Given the description of an element on the screen output the (x, y) to click on. 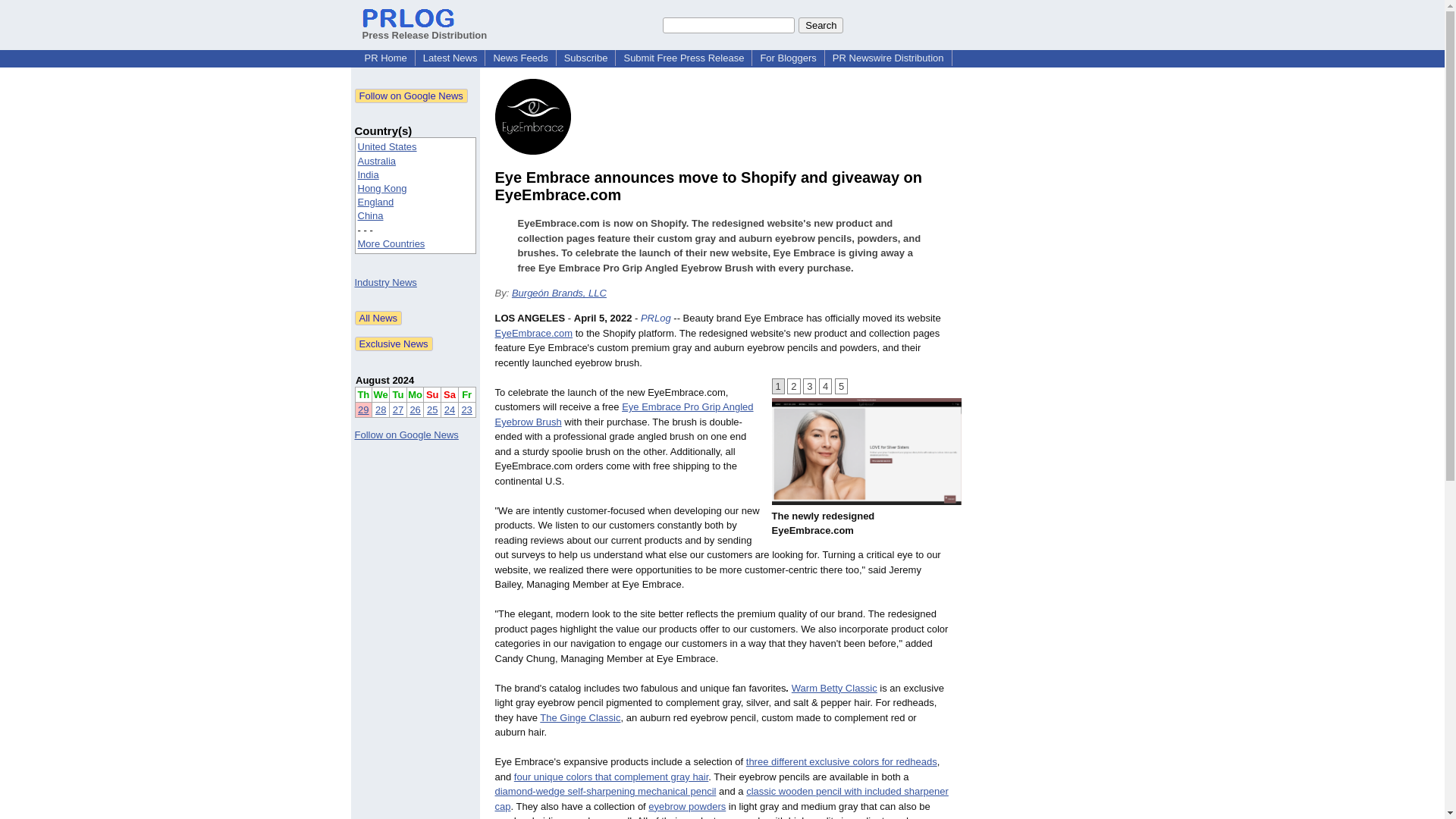
Search (820, 24)
Click on an option to filter or browse by that option (415, 195)
24 (449, 409)
United States (387, 146)
28 (380, 409)
Search (820, 24)
PR Newswire Distribution (888, 57)
Hong Kong (382, 188)
26 (414, 409)
For Bloggers (788, 57)
